Given the description of an element on the screen output the (x, y) to click on. 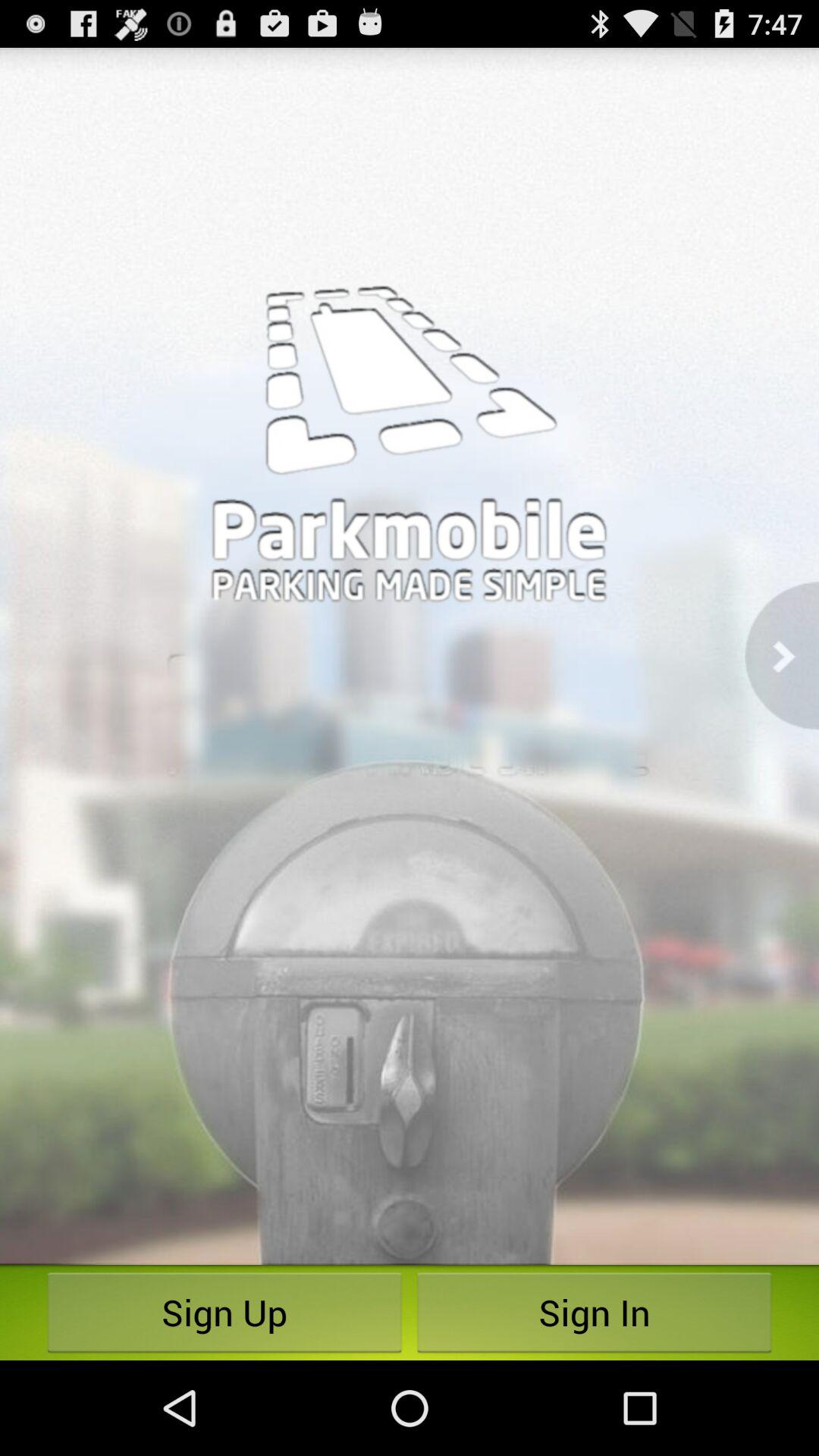
launch the item next to sign up (594, 1312)
